Given the description of an element on the screen output the (x, y) to click on. 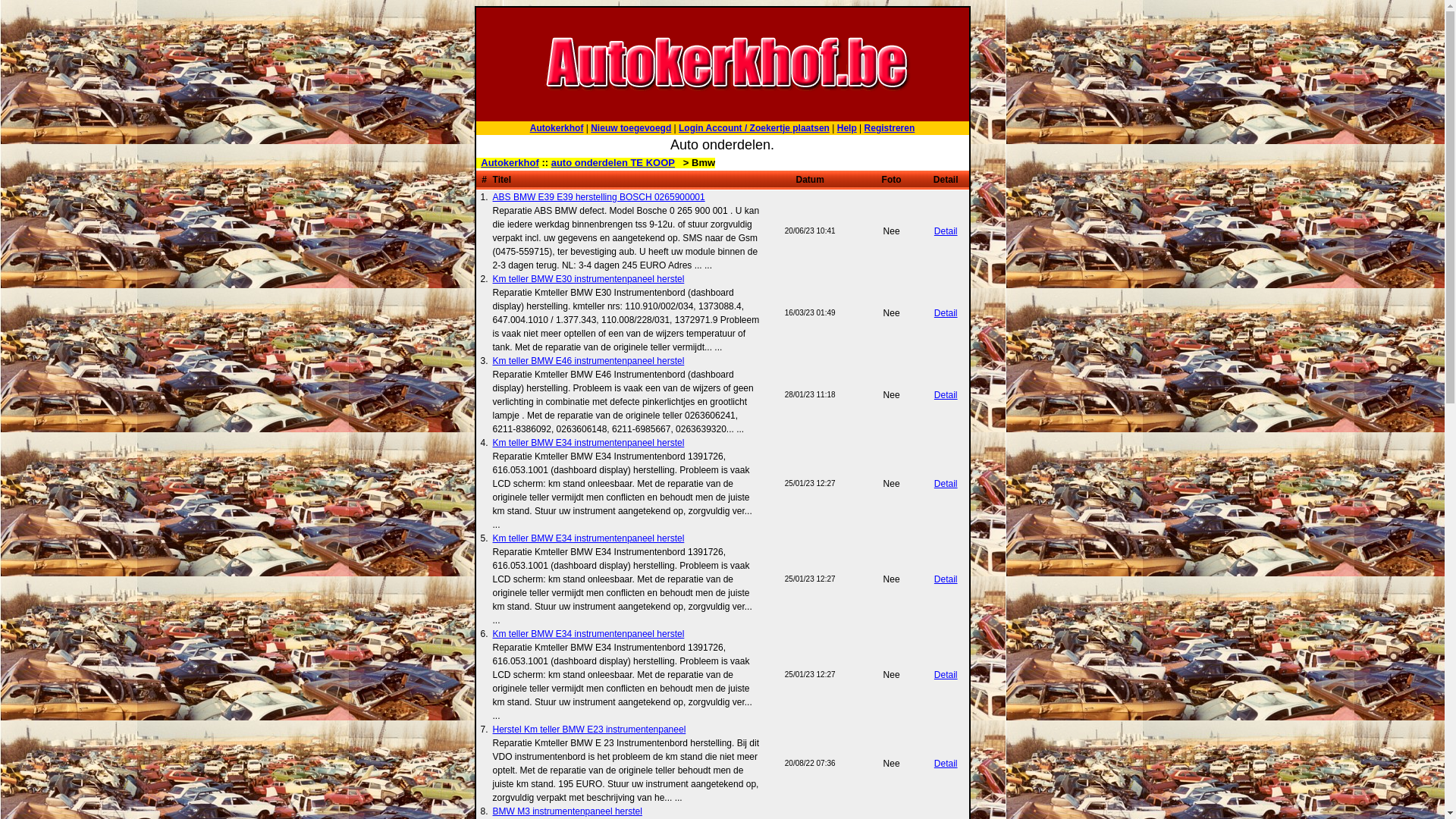
Help Element type: text (846, 127)
auto onderdelen TE KOOP Element type: text (612, 162)
Km teller BMW E34 instrumentenpaneel herstel Element type: text (588, 441)
Detail Element type: text (945, 312)
Registreren Element type: text (889, 127)
Detail Element type: text (945, 230)
Detail Element type: text (945, 763)
Autokerkhof Element type: text (556, 127)
ABS BMW E39 E39 herstelling BOSCH 0265900001 Element type: text (598, 196)
Km teller BMW E46 instrumentenpaneel herstel Element type: text (588, 359)
Detail Element type: text (945, 482)
Detail Element type: text (945, 578)
Login Account / Zoekertje plaatsen Element type: text (753, 127)
Herstel Km teller BMW E23 instrumentenpaneel Element type: text (589, 728)
Km teller BMW E34 instrumentenpaneel herstel Element type: text (588, 632)
Detail Element type: text (945, 673)
Nieuw toegevoegd Element type: text (630, 127)
BMW M3 instrumentenpaneel herstel Element type: text (567, 810)
Km teller BMW E30 instrumentenpaneel herstel Element type: text (588, 278)
Autokerkhof Element type: text (509, 162)
Km teller BMW E34 instrumentenpaneel herstel Element type: text (588, 537)
Detail Element type: text (945, 394)
